Given the description of an element on the screen output the (x, y) to click on. 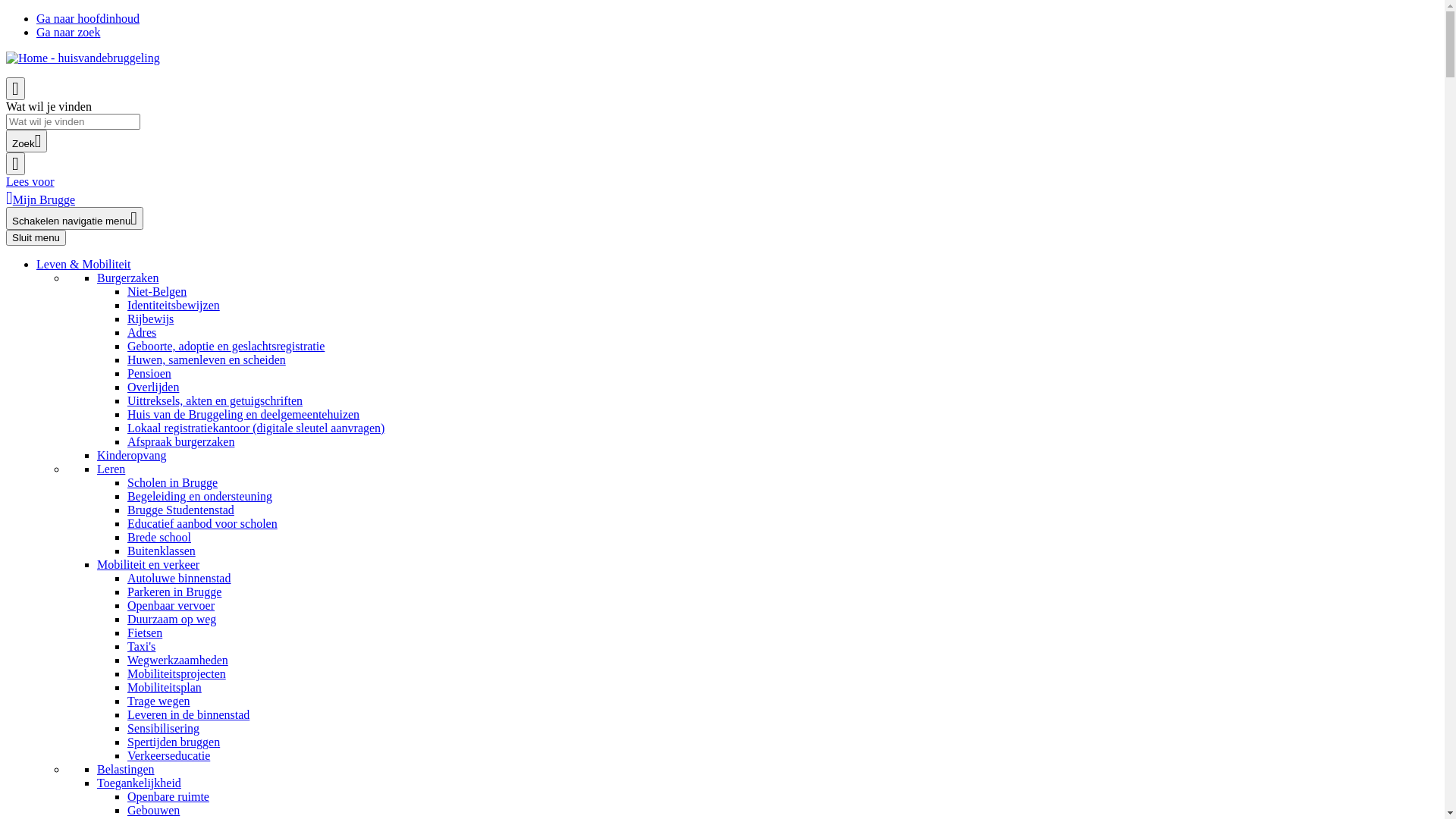
Trage wegen Element type: text (158, 700)
Brugge Studentenstad Element type: text (180, 509)
Rijbewijs Element type: text (150, 318)
Verkeerseducatie Element type: text (168, 755)
Afspraak burgerzaken Element type: text (180, 441)
Ga naar hoofdinhoud Element type: text (87, 18)
Mobiliteitsplan Element type: text (164, 686)
Wegwerkzaamheden Element type: text (177, 659)
Leren Element type: text (111, 468)
Huwen, samenleven en scheiden Element type: text (206, 359)
Buitenklassen Element type: text (161, 550)
Lokaal registratiekantoor (digitale sleutel aanvragen) Element type: text (255, 427)
Begeleiding en ondersteuning Element type: text (199, 495)
Identiteitsbewijzen Element type: text (173, 304)
Geboorte, adoptie en geslachtsregistratie Element type: text (225, 345)
Leven & Mobiliteit Element type: text (83, 263)
Mobiliteitsprojecten Element type: text (176, 673)
Huis van de Bruggeling en deelgemeentehuizen Element type: text (243, 413)
Pensioen Element type: text (149, 373)
Burgerzaken Element type: text (127, 277)
Openbaar vervoer Element type: text (170, 605)
Brede school Element type: text (159, 536)
Adres Element type: text (141, 332)
Openbare ruimte Element type: text (168, 796)
Toegankelijkheid Element type: text (139, 782)
Sluit menu Element type: text (35, 237)
Taxi's Element type: text (141, 646)
Uittreksels, akten en getuigschriften Element type: text (214, 400)
Parkeren in Brugge Element type: text (174, 591)
Ga naar de startpagina Element type: hover (83, 57)
Leveren in de binnenstad Element type: text (188, 714)
Gebouwen Element type: text (153, 809)
Sensibilisering Element type: text (163, 727)
Mobiliteit en verkeer Element type: text (148, 564)
Fietsen Element type: text (144, 632)
Autoluwe binnenstad Element type: text (178, 577)
Overlijden Element type: text (152, 386)
Scholen in Brugge Element type: text (172, 482)
Spertijden bruggen Element type: text (173, 741)
Kinderopvang Element type: text (131, 454)
Lees voor Element type: text (30, 181)
Duurzaam op weg Element type: text (171, 618)
Belastingen Element type: text (125, 768)
Educatief aanbod voor scholen Element type: text (202, 523)
Ga naar zoek Element type: text (68, 31)
Niet-Belgen Element type: text (156, 291)
